Given the description of an element on the screen output the (x, y) to click on. 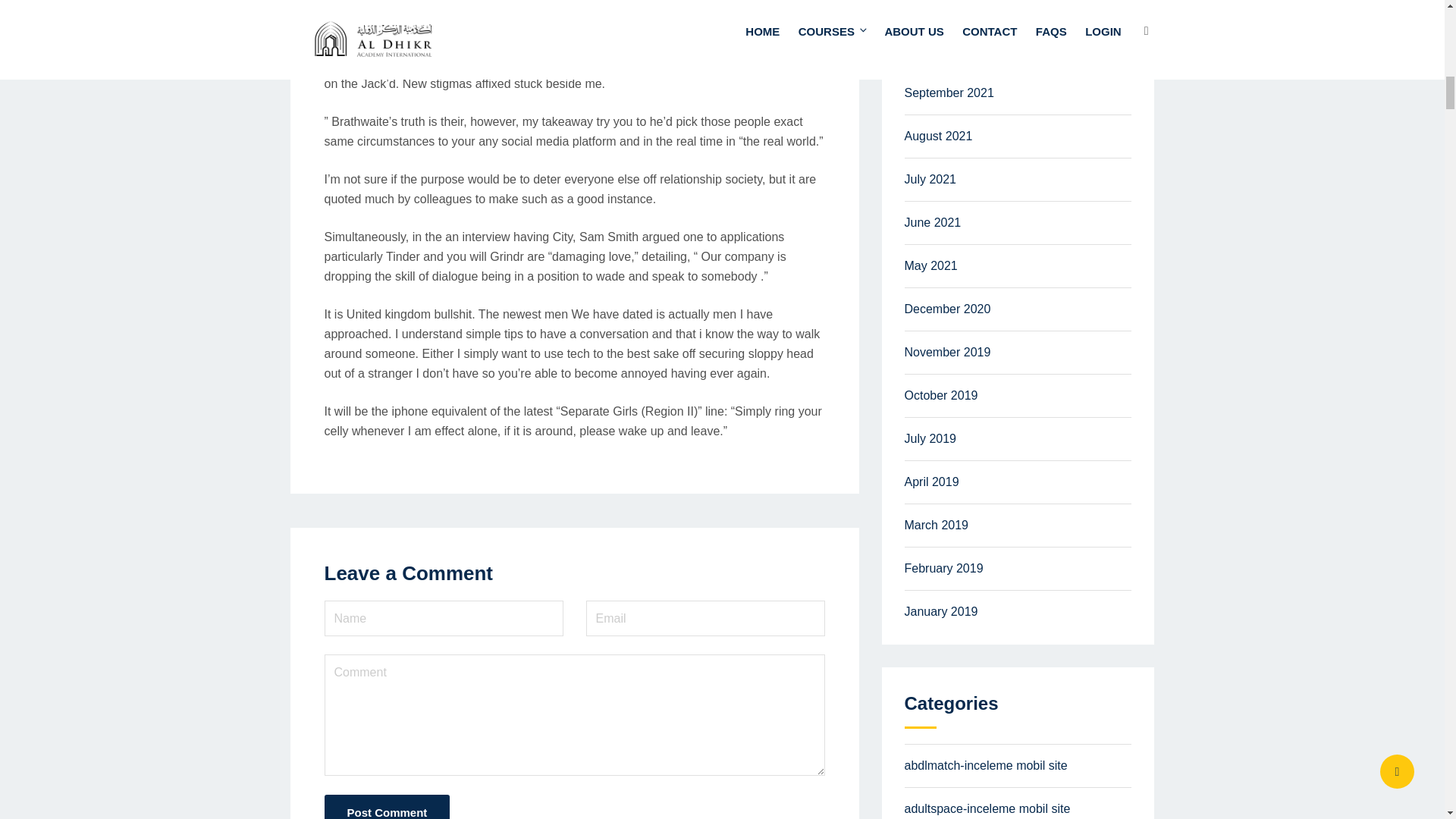
Post Comment (386, 806)
